Given the description of an element on the screen output the (x, y) to click on. 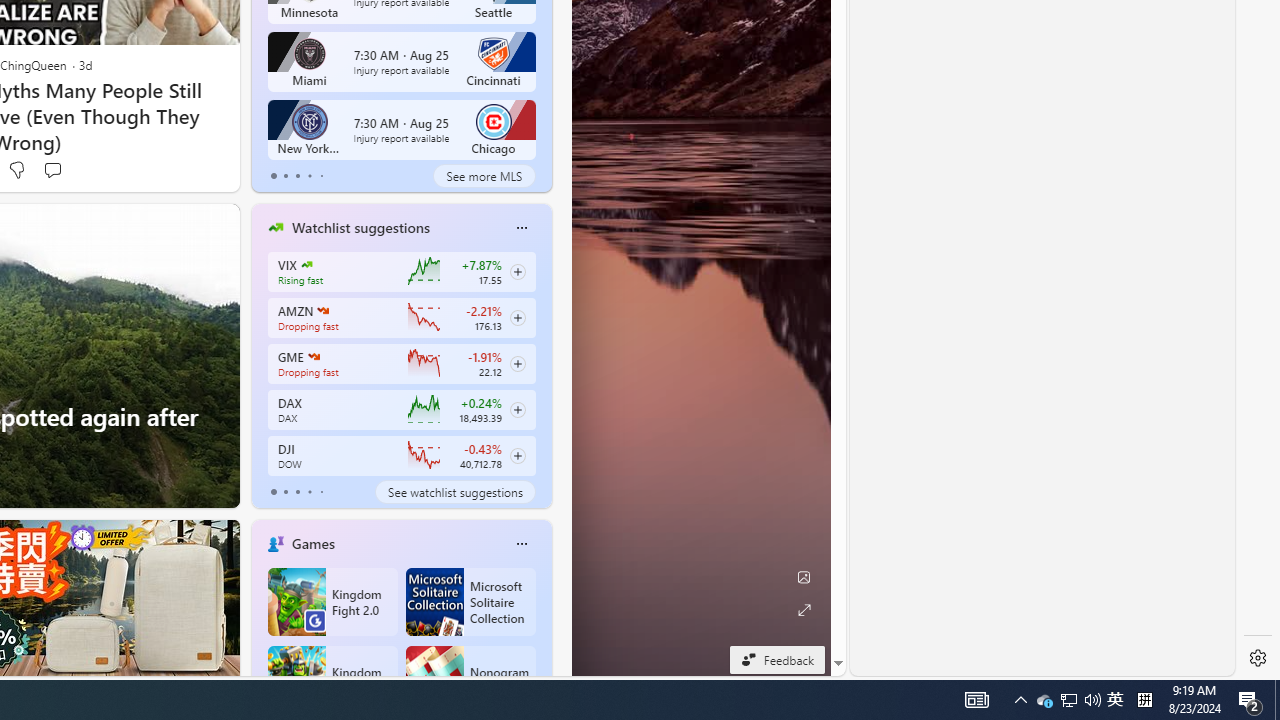
tab-4 (320, 491)
Games (312, 543)
Class: sd-card-game-item-img-inner (433, 679)
